Given the description of an element on the screen output the (x, y) to click on. 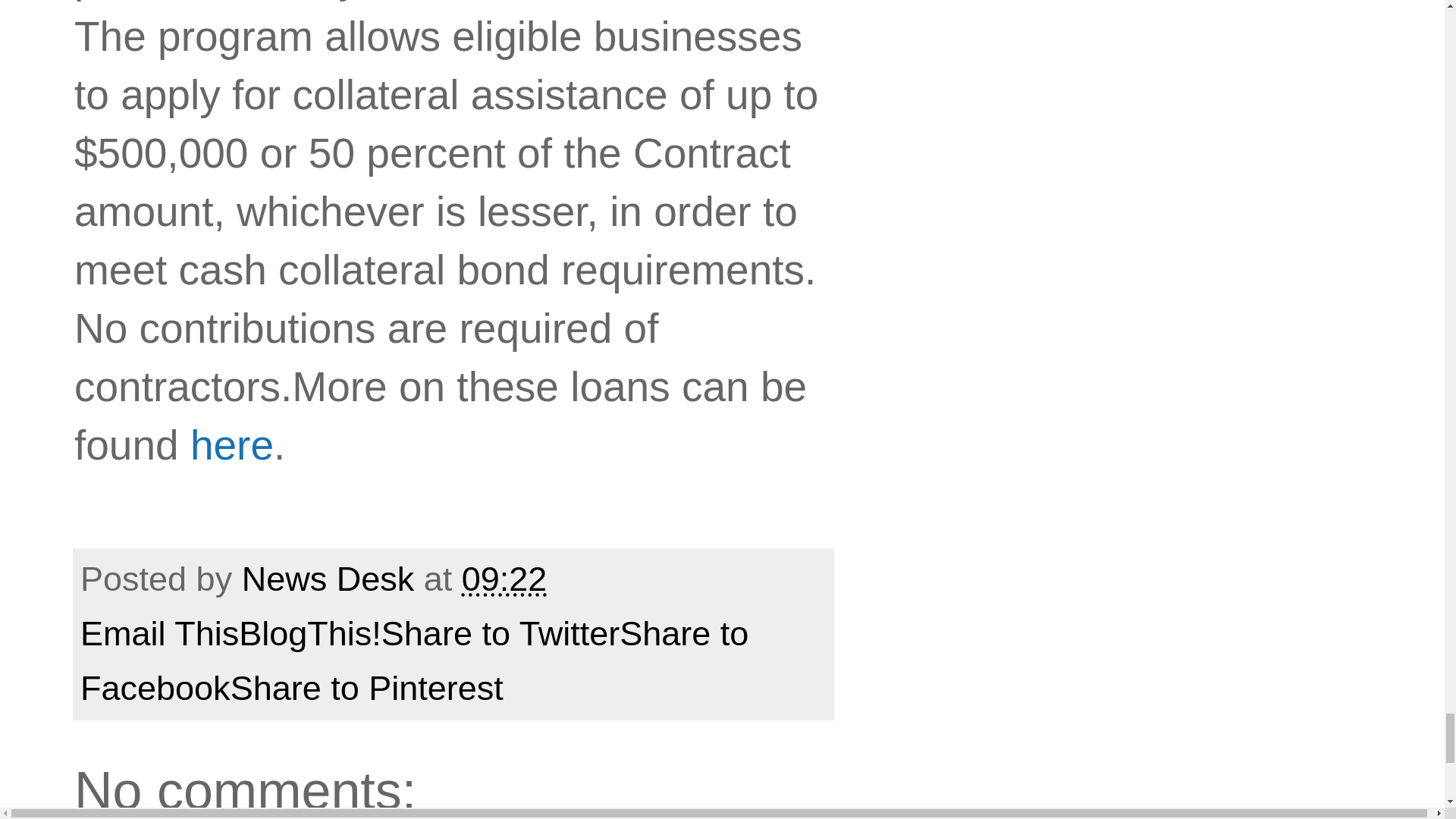
author profile (332, 578)
09:22 (504, 578)
Share to Facebook (414, 660)
permanent link (504, 578)
BlogThis! (309, 633)
Share to Twitter (500, 633)
Email This (159, 633)
Share to Pinterest (366, 688)
Share to Twitter (500, 633)
Share to Facebook (414, 660)
